Given the description of an element on the screen output the (x, y) to click on. 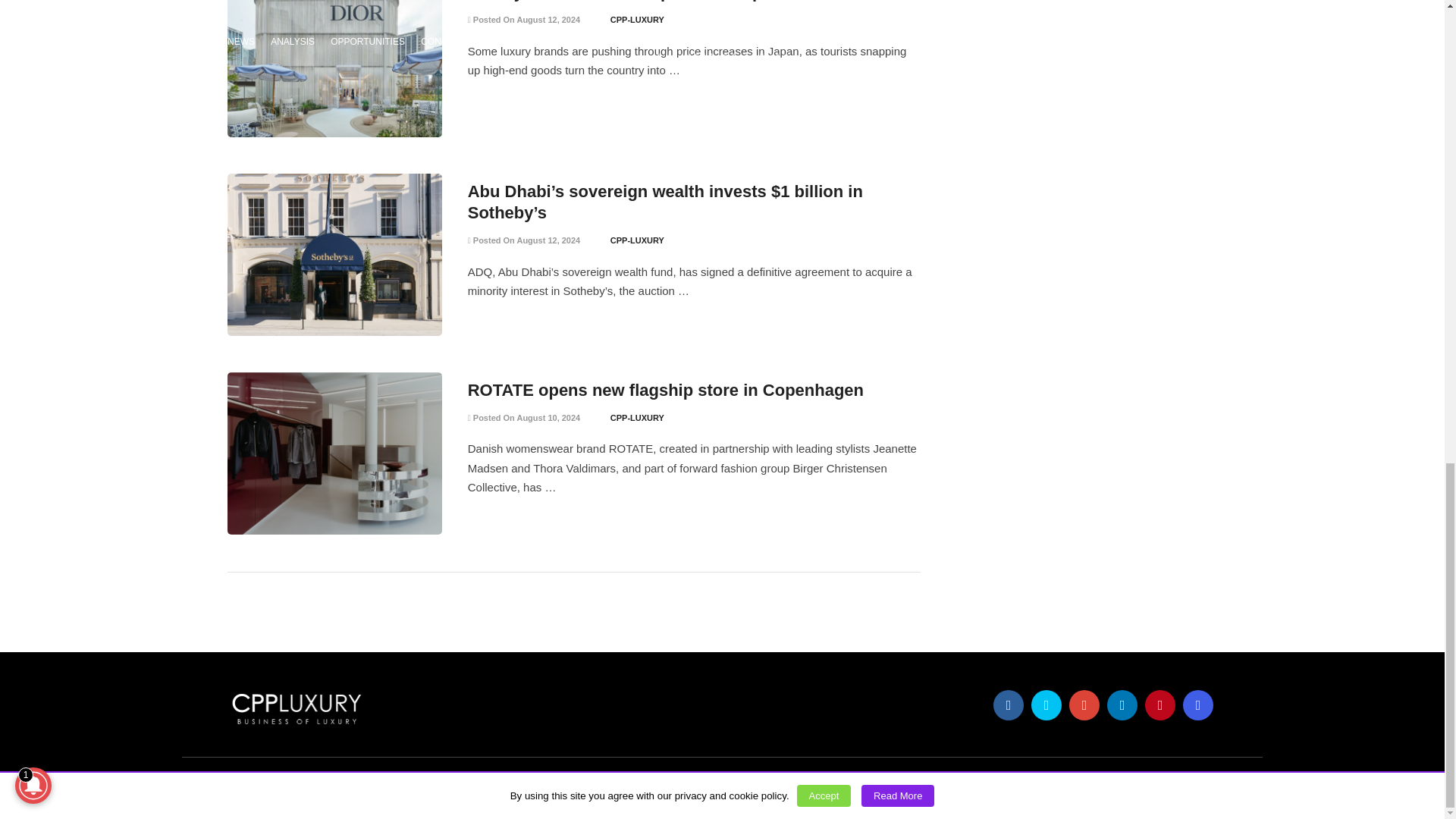
Posted On August 12, 2024 (523, 19)
CPP-LUXURY (636, 19)
ROTATE opens new flagship store in Copenhagen (665, 389)
